Given the description of an element on the screen output the (x, y) to click on. 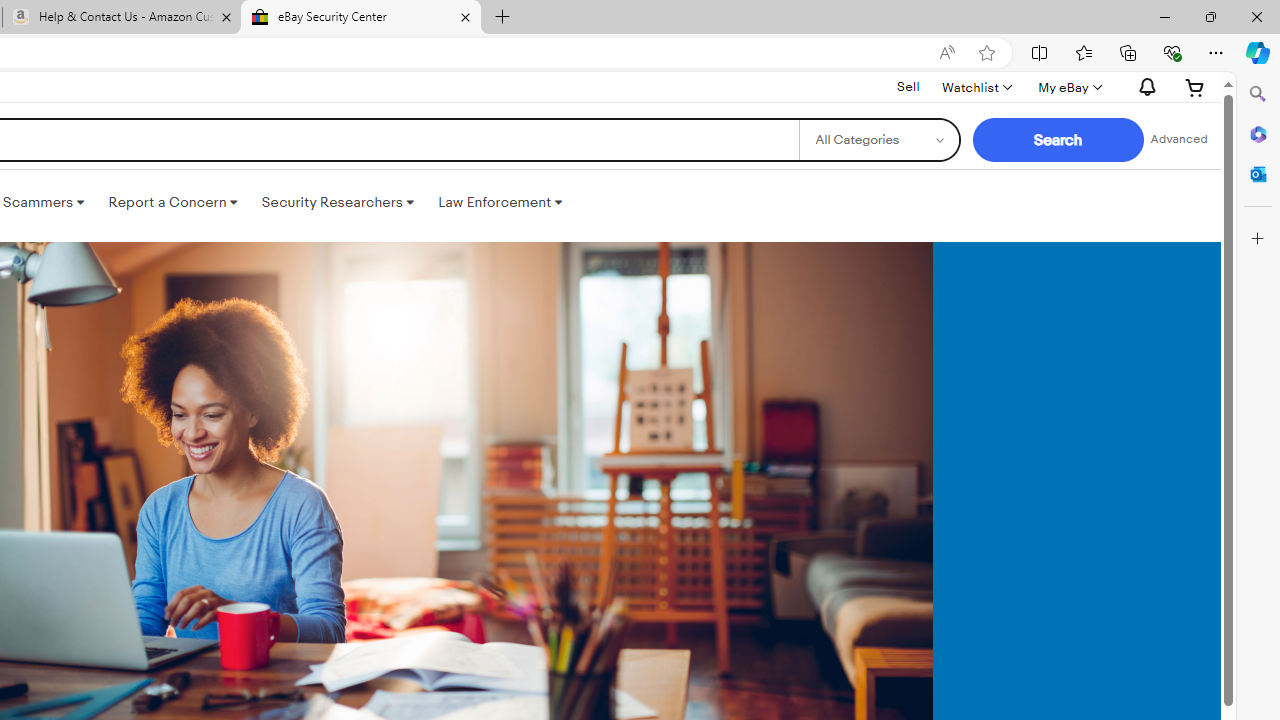
Close Outlook pane (1258, 174)
Law Enforcement  (500, 202)
Law Enforcement  (500, 202)
Security Researchers  (337, 202)
WatchlistExpand Watch List (975, 87)
My eBay (1068, 87)
eBay Security Center (360, 17)
Select a category for search (877, 139)
Your shopping cart (1195, 87)
